Given the description of an element on the screen output the (x, y) to click on. 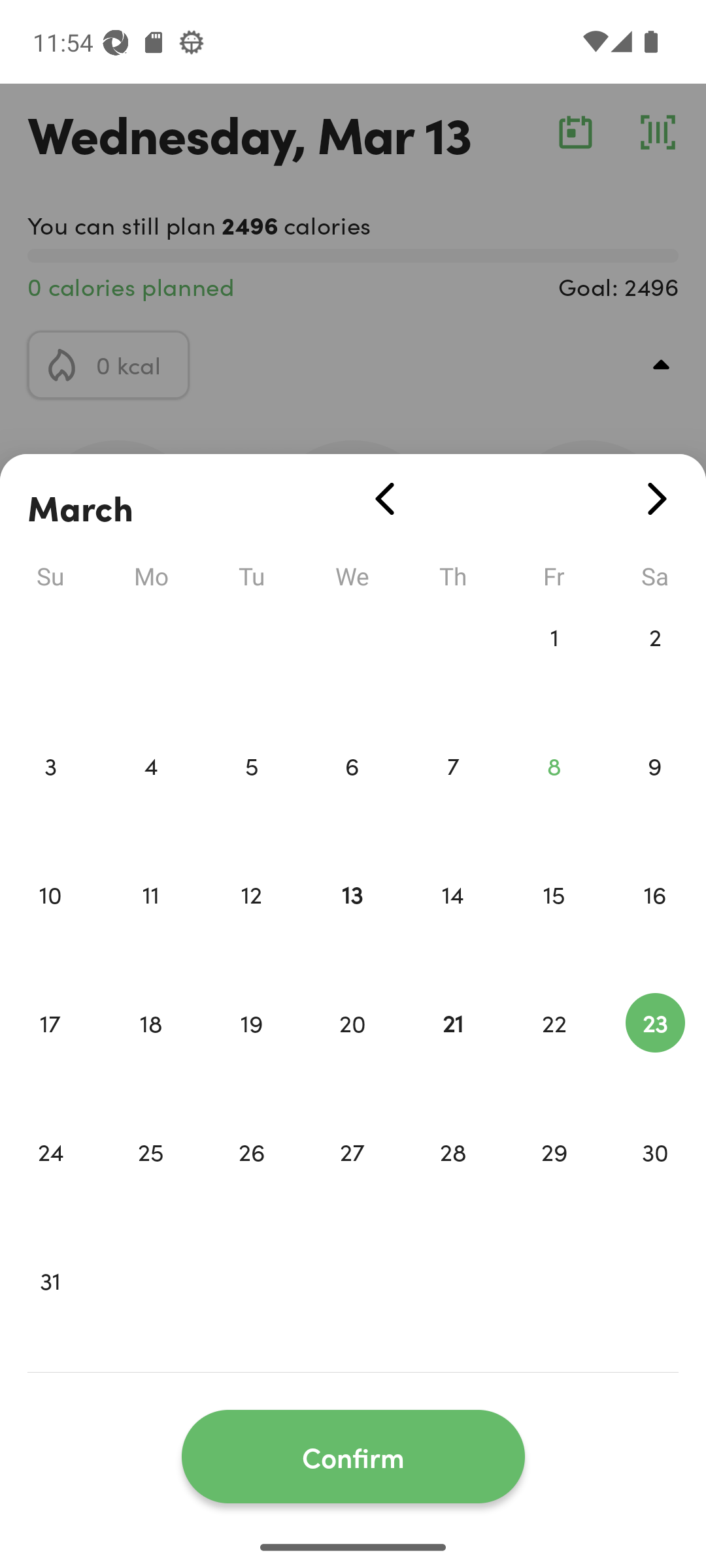
1 (554, 663)
2 (655, 663)
3 (50, 793)
4 (150, 793)
5 (251, 793)
6 (352, 793)
7 (453, 793)
8 (554, 793)
9 (655, 793)
10 (50, 921)
11 (150, 921)
12 (251, 921)
13 (352, 921)
14 (453, 921)
15 (554, 921)
16 (655, 921)
17 (50, 1050)
18 (150, 1050)
19 (251, 1050)
20 (352, 1050)
21 (453, 1050)
22 (554, 1050)
23 (655, 1050)
24 (50, 1178)
25 (150, 1178)
26 (251, 1178)
27 (352, 1178)
28 (453, 1178)
29 (554, 1178)
30 (655, 1178)
31 (50, 1307)
Confirm (353, 1456)
